Given the description of an element on the screen output the (x, y) to click on. 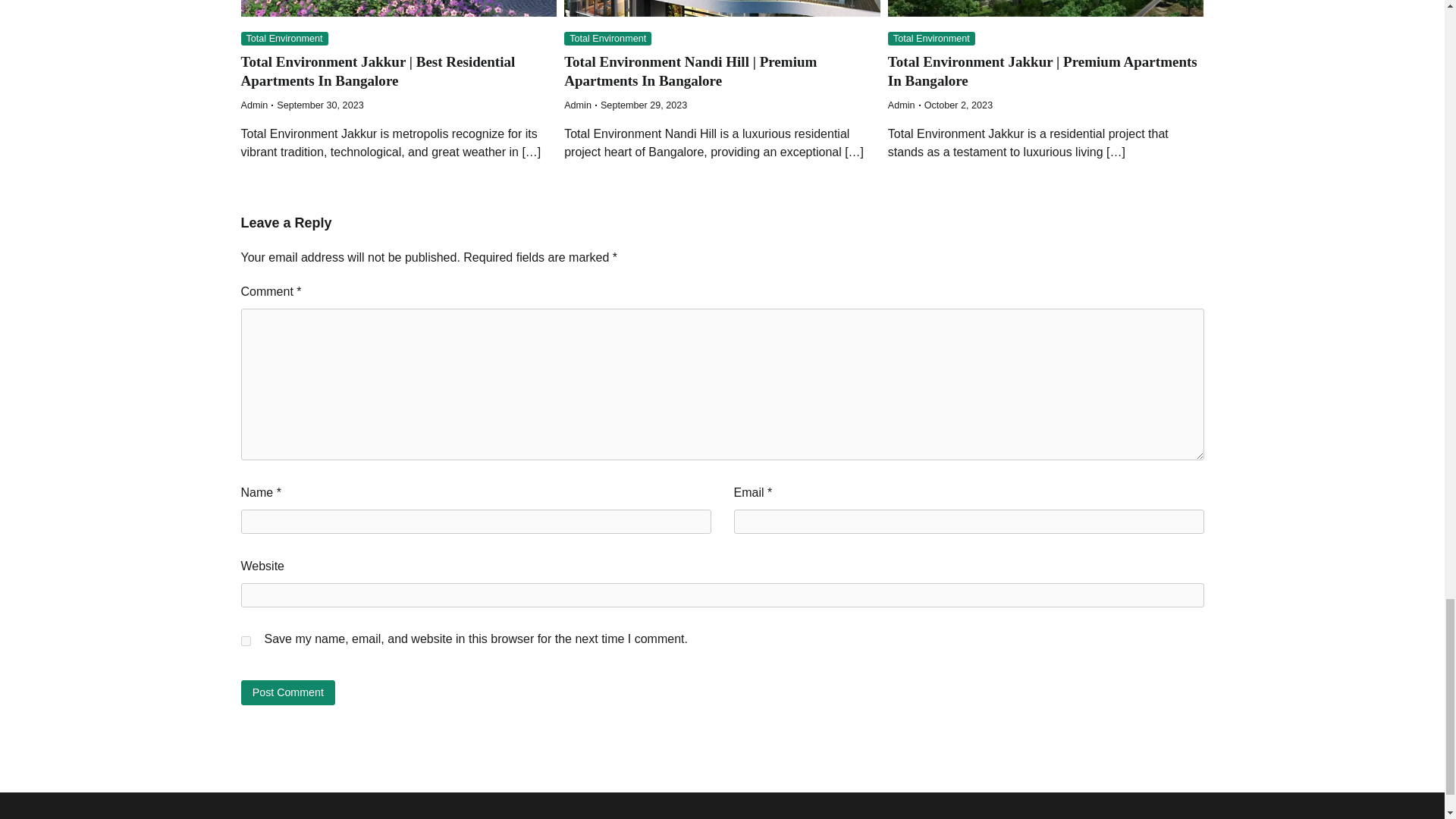
Admin (901, 104)
Total Environment (607, 38)
Total Environment (931, 38)
Admin (577, 104)
Total Environment (285, 38)
Post Comment (288, 692)
Admin (254, 104)
yes (245, 641)
Post Comment (288, 692)
